Given the description of an element on the screen output the (x, y) to click on. 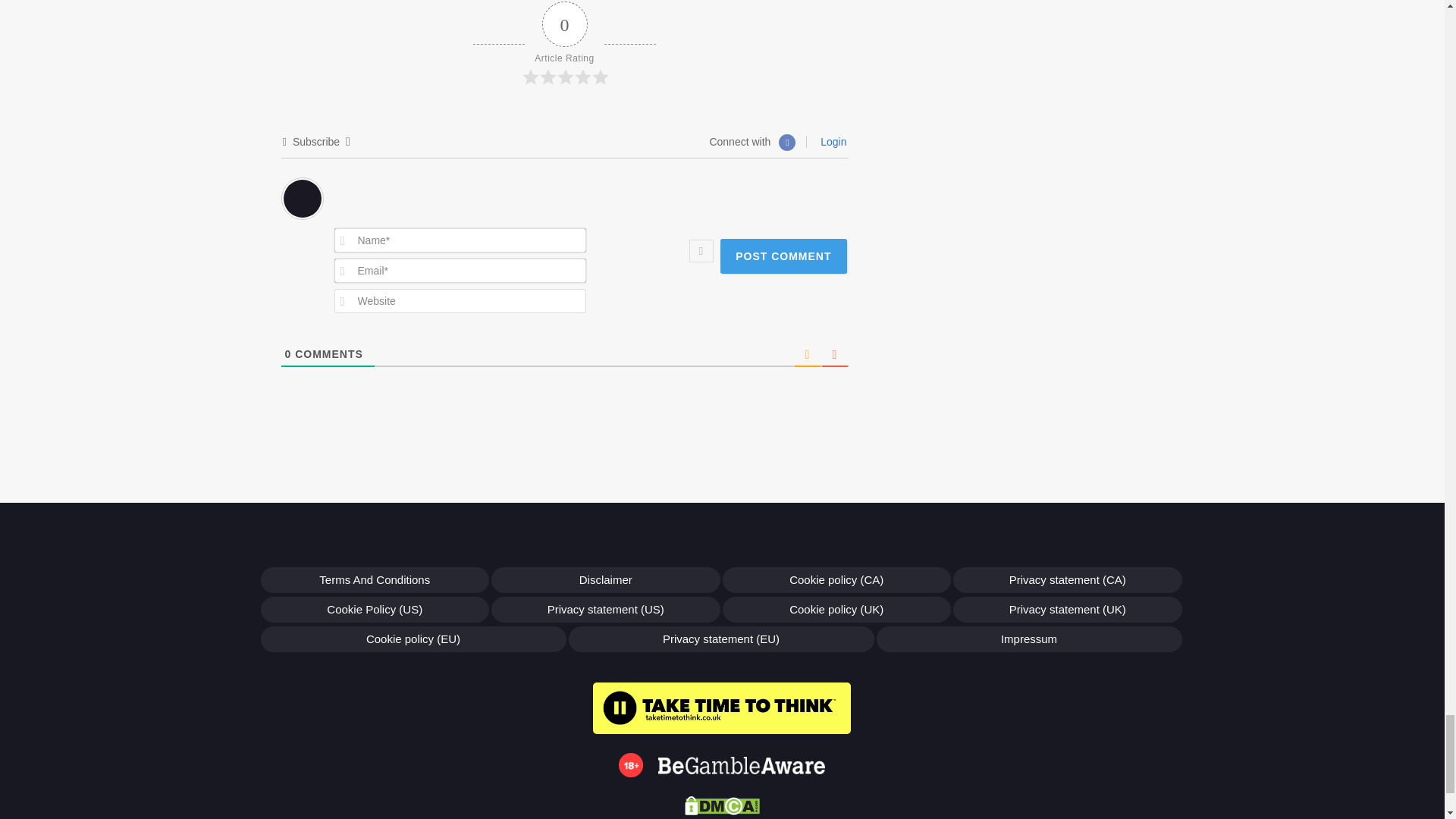
Post Comment (782, 256)
